Given the description of an element on the screen output the (x, y) to click on. 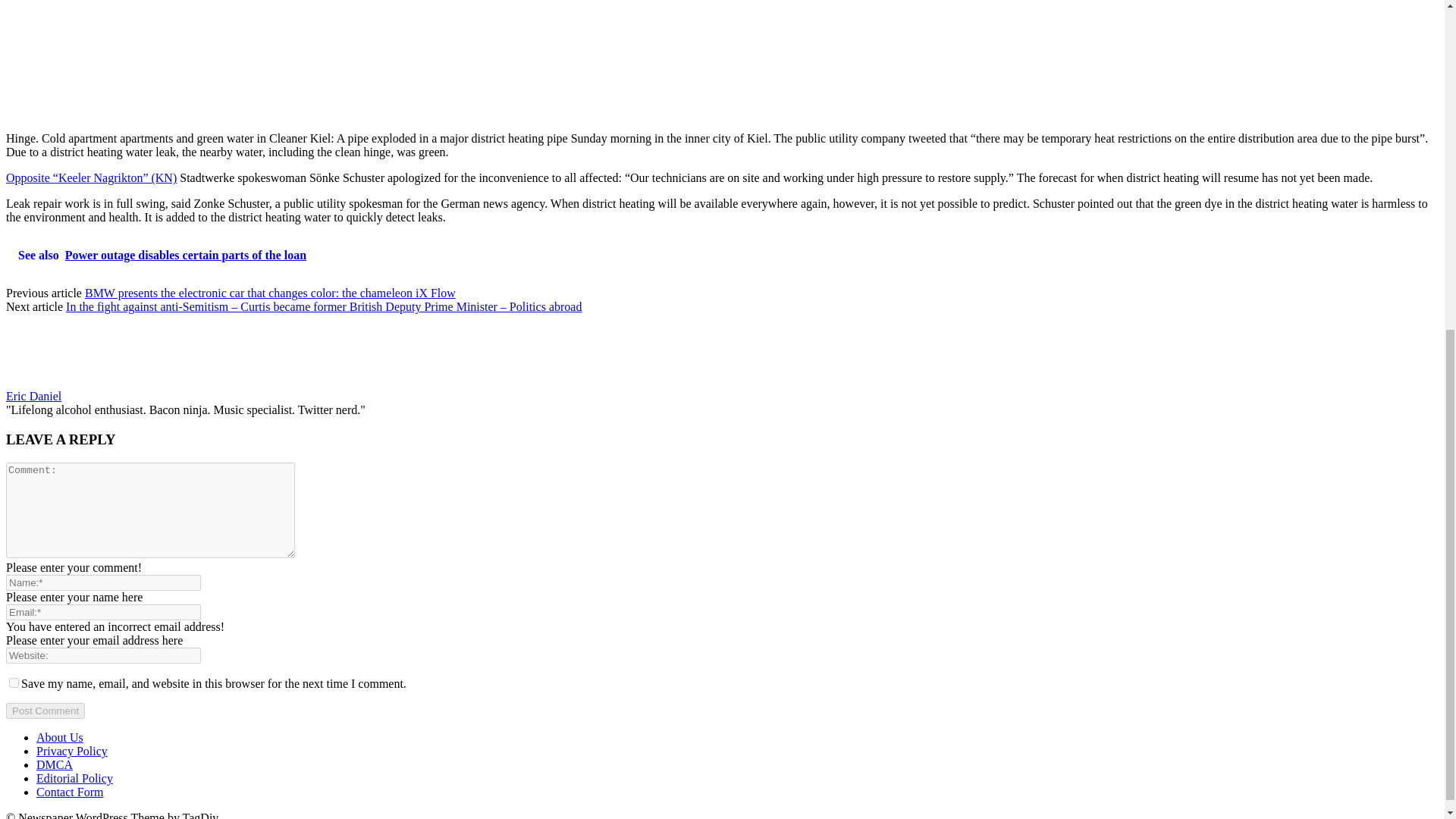
Post Comment (44, 710)
Contact Form (69, 791)
Post Comment (44, 710)
DMCA (54, 764)
yes (13, 682)
Eric Daniel (33, 395)
Editorial Policy (74, 778)
Privacy Policy (71, 750)
About Us (59, 737)
